Given the description of an element on the screen output the (x, y) to click on. 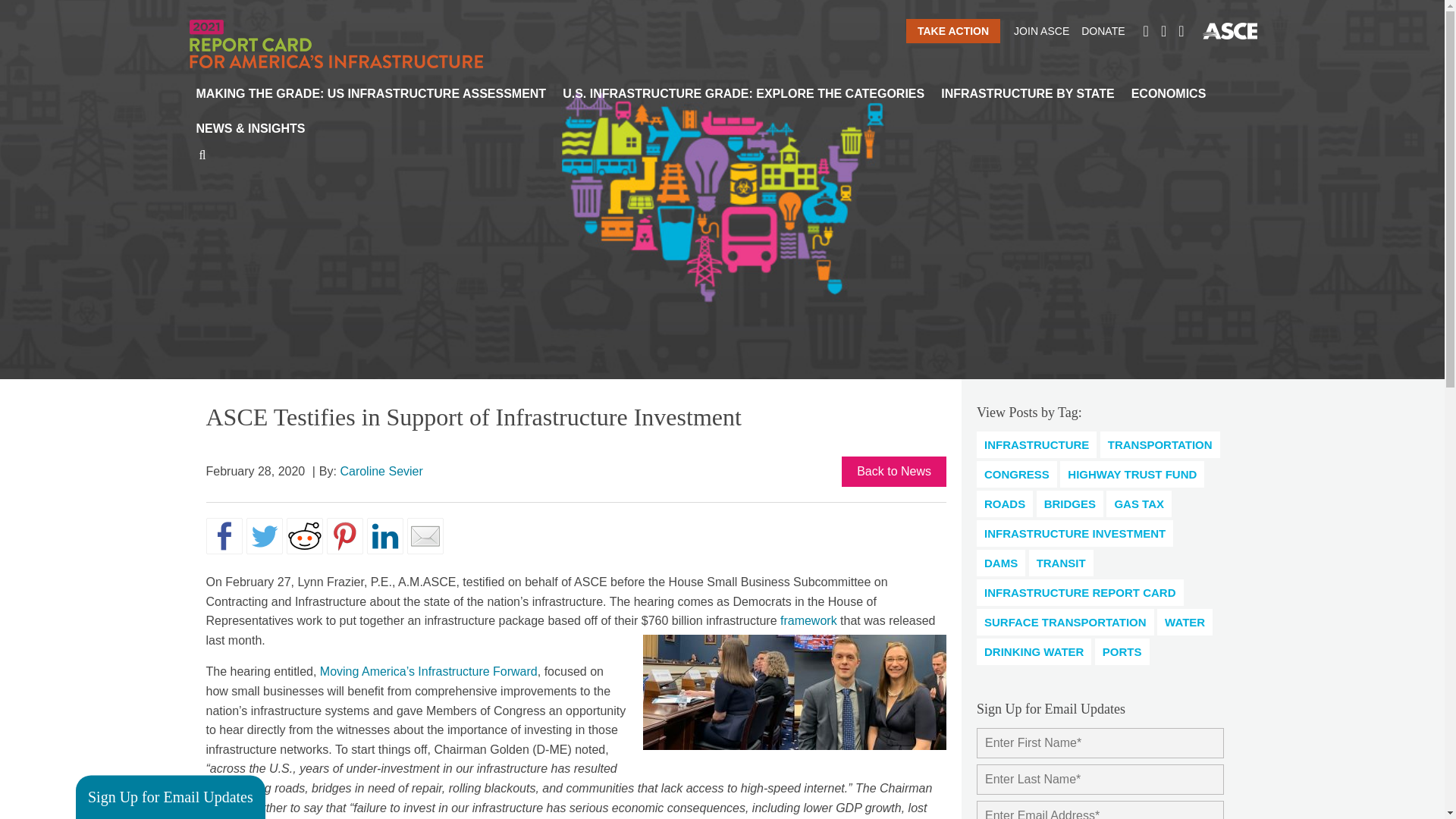
MAKING THE GRADE: US INFRASTRUCTURE ASSESSMENT (370, 93)
Share on Linkedin (384, 535)
JOIN ASCE (1040, 30)
Share on Facebook (224, 535)
Pin it with Pinterest (344, 535)
DONATE (1102, 30)
TAKE ACTION (952, 30)
Share on Twitter (264, 535)
U.S. INFRASTRUCTURE GRADE: EXPLORE THE CATEGORIES (743, 93)
Share on Reddit (304, 535)
